Given the description of an element on the screen output the (x, y) to click on. 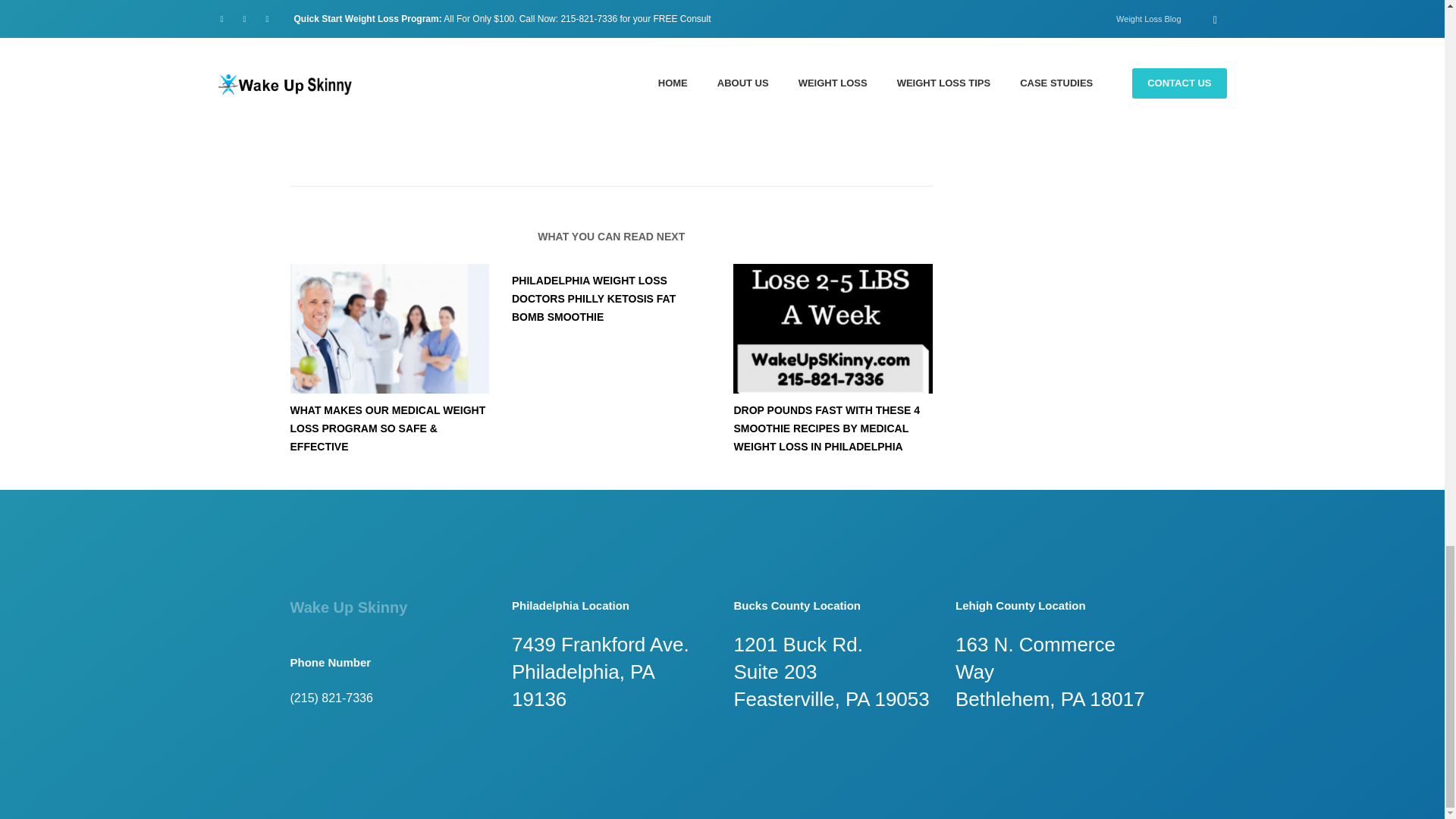
MEDICAL WEIGHT LOSS PHILADELPHIA (427, 35)
Tweet (303, 1)
medical weight loss diet doctors (388, 328)
Share (380, 4)
WEIGHT LOSS PHILADLEPHIA (557, 35)
